Given the description of an element on the screen output the (x, y) to click on. 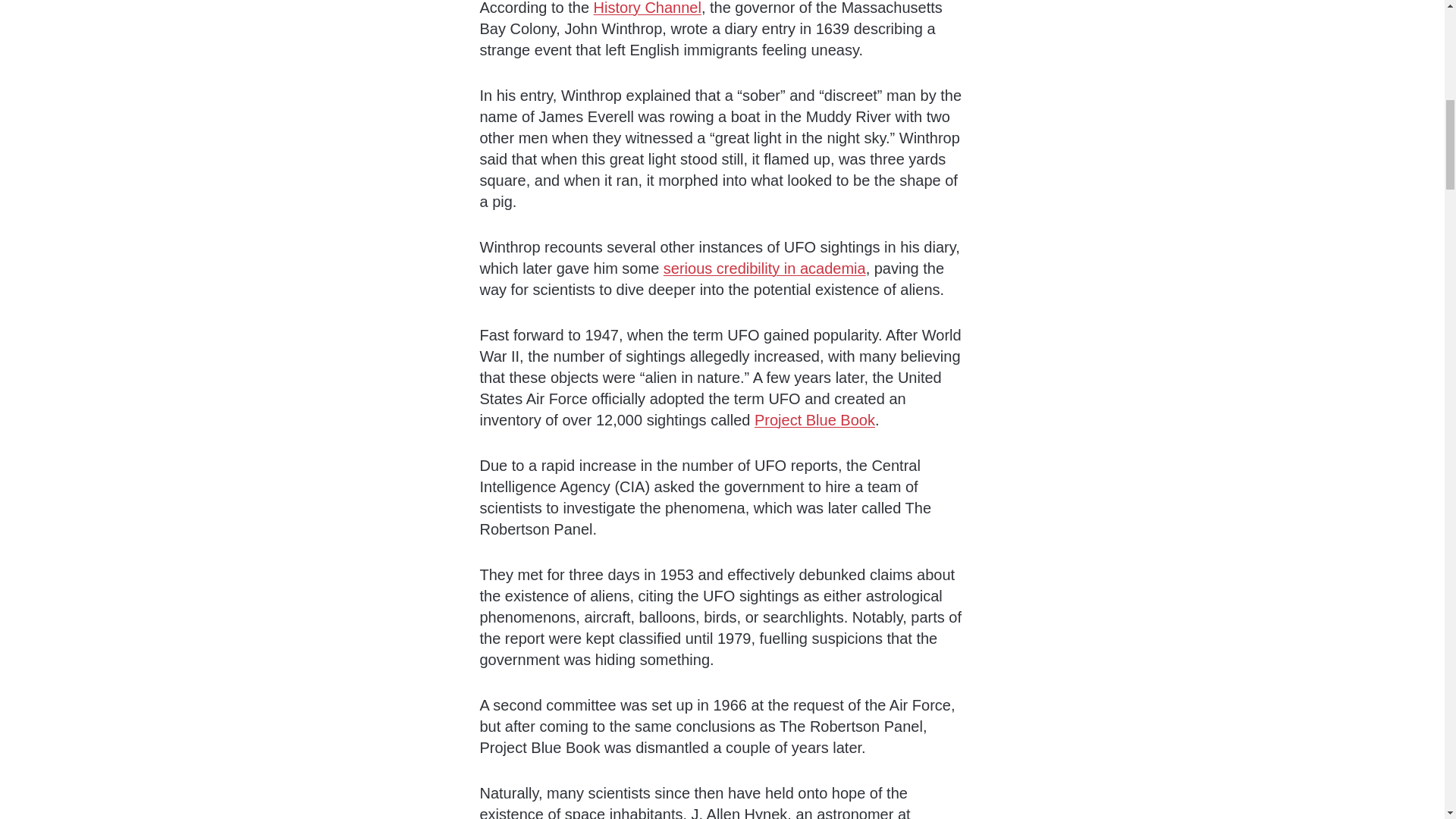
serious credibility in academia (764, 268)
History Channel (647, 7)
Project Blue Book (814, 419)
